Given the description of an element on the screen output the (x, y) to click on. 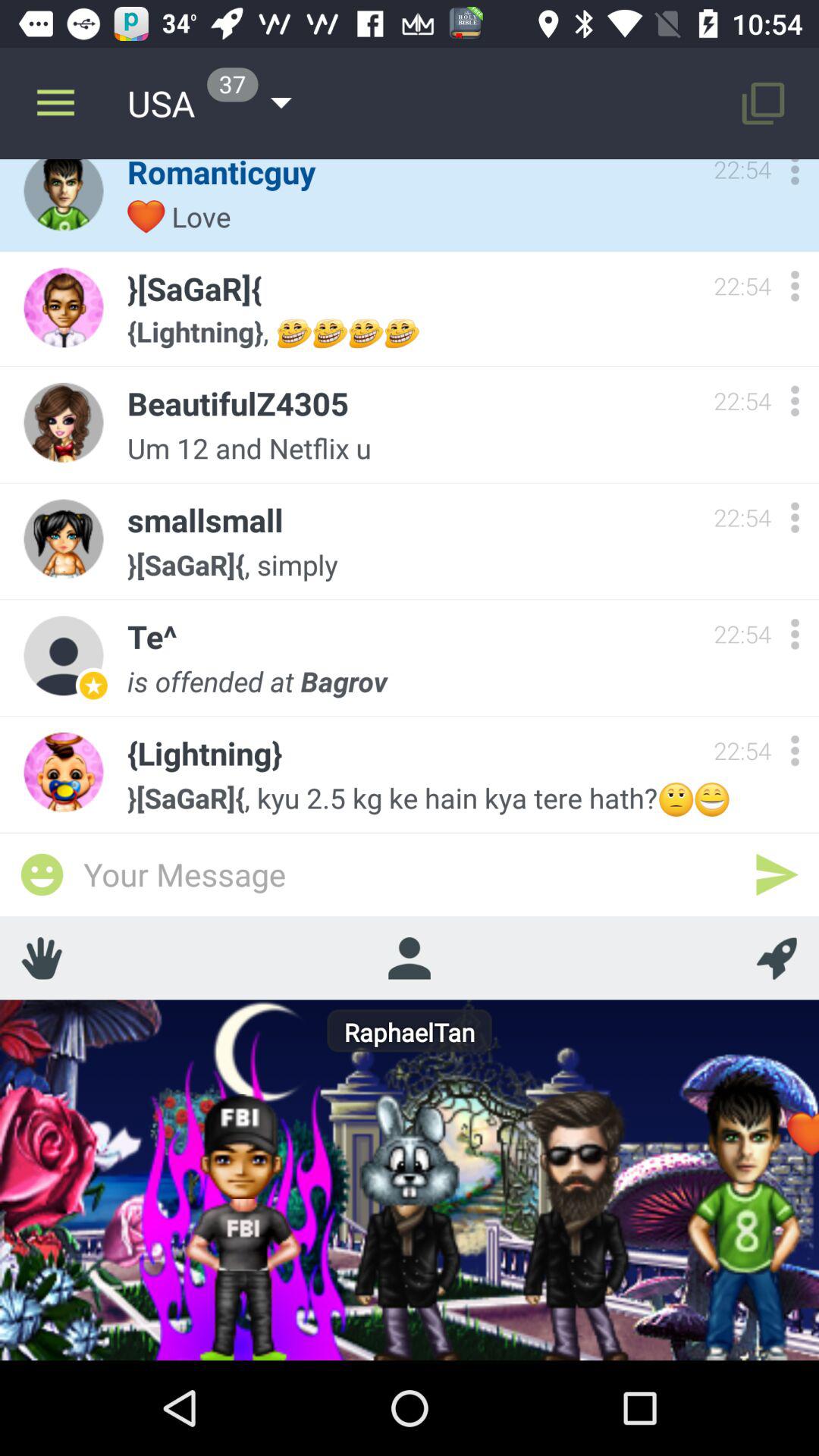
click icon next to romanticguy icon (55, 103)
